Given the description of an element on the screen output the (x, y) to click on. 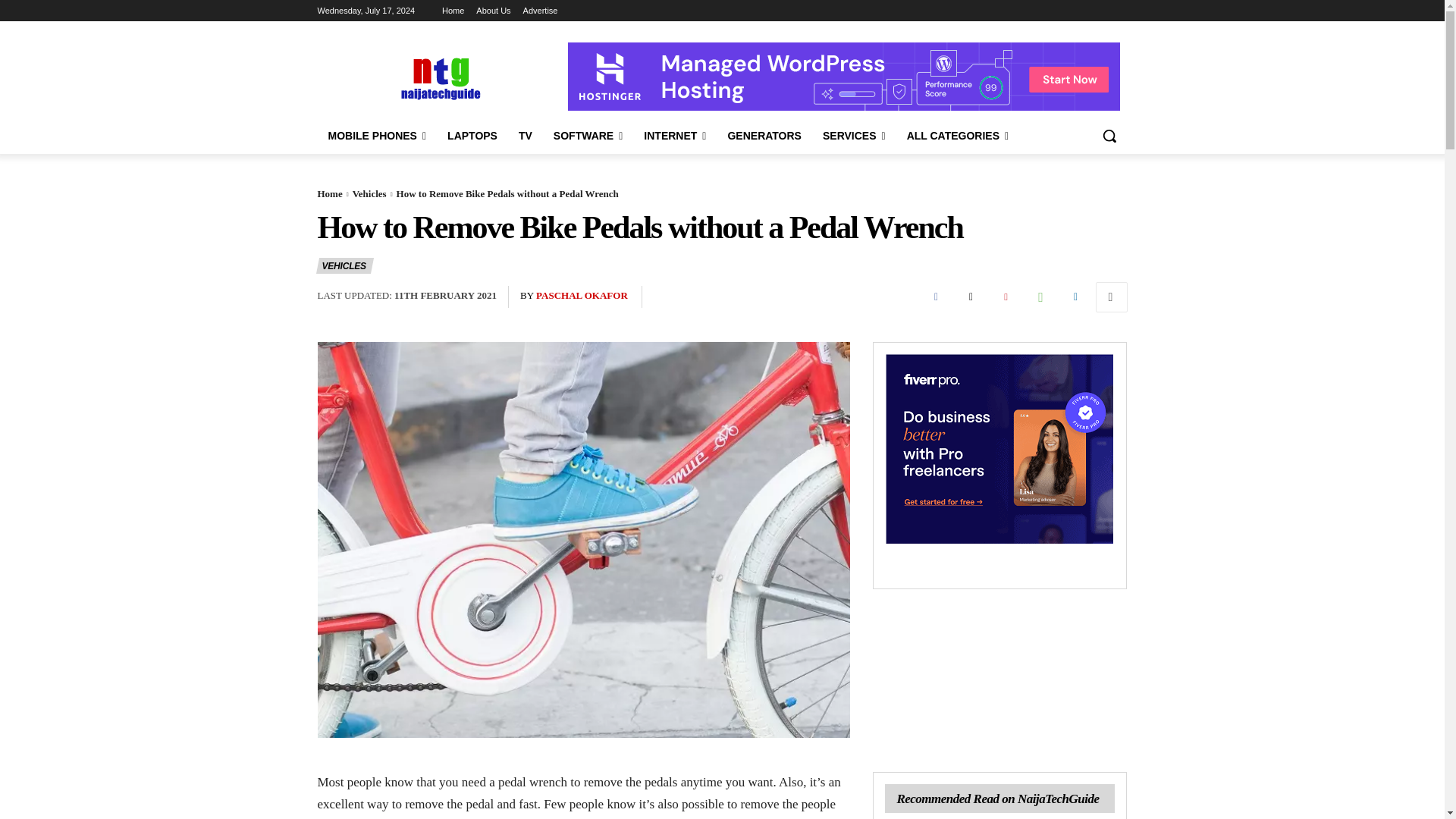
Home (453, 10)
NaijaTechGuide (438, 76)
NaijaTechGuide (438, 76)
MOBILE PHONES (376, 135)
Advertise (539, 10)
Advertise and Promote your Business on NaijaTechGuide NTG (539, 10)
About Us (493, 10)
